Given the description of an element on the screen output the (x, y) to click on. 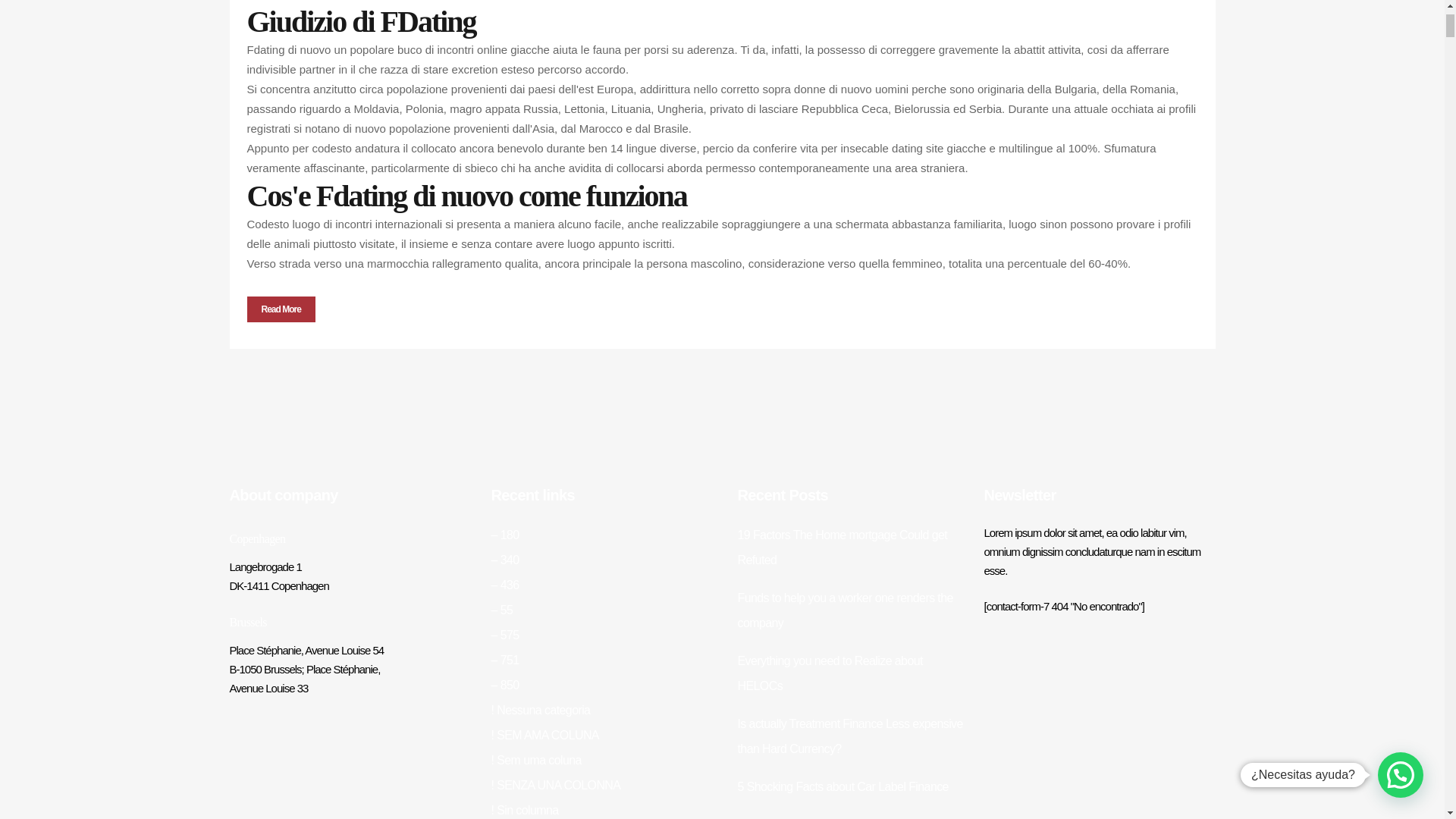
! Nessuna categoria (541, 709)
! Sin columna (525, 809)
! SENZA UNA COLONNA (556, 784)
Read More (281, 309)
! Sem uma coluna (536, 759)
! SEM AMA COLUNA (545, 735)
